Given the description of an element on the screen output the (x, y) to click on. 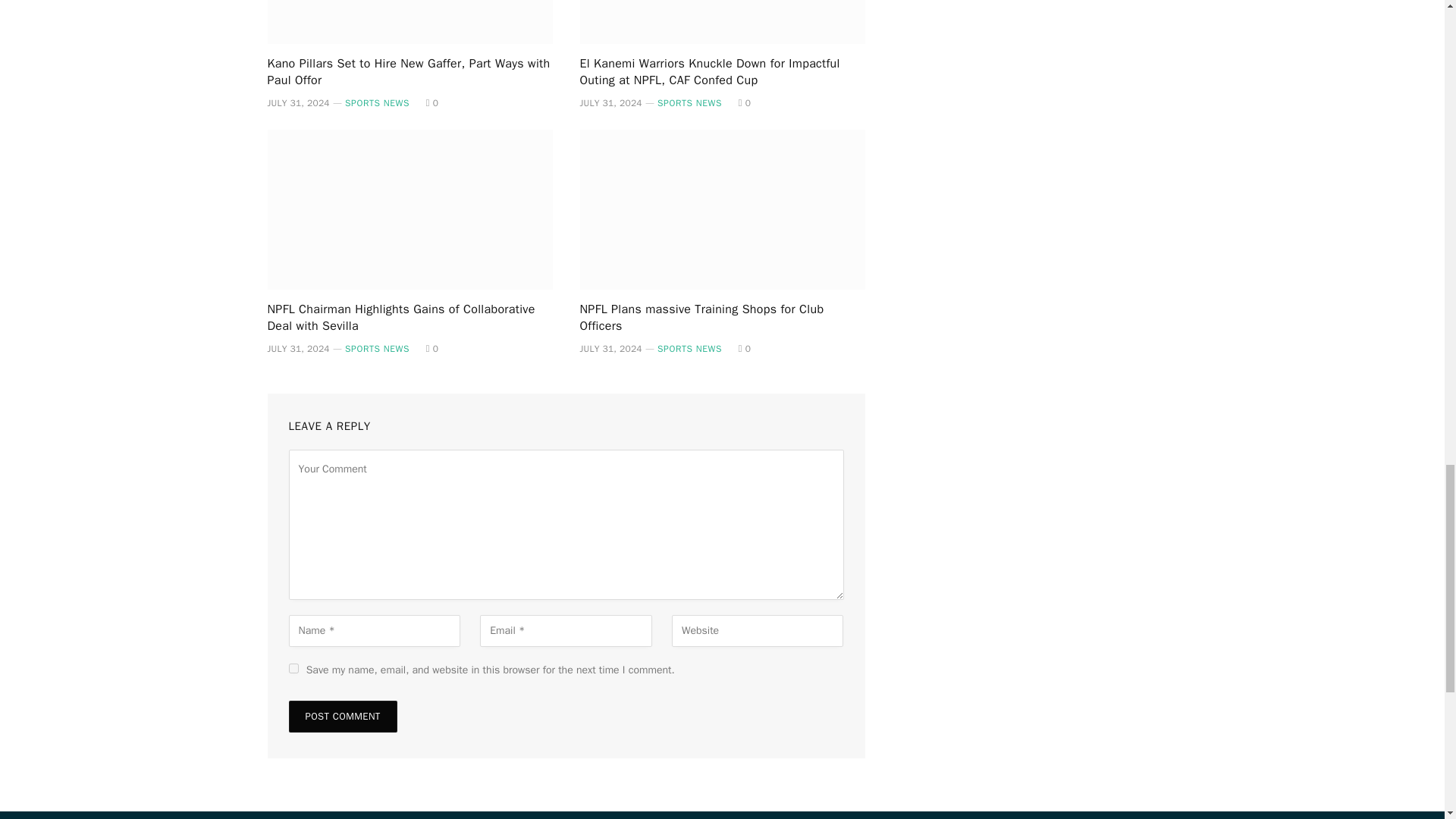
yes (293, 668)
Post Comment (342, 716)
